Given the description of an element on the screen output the (x, y) to click on. 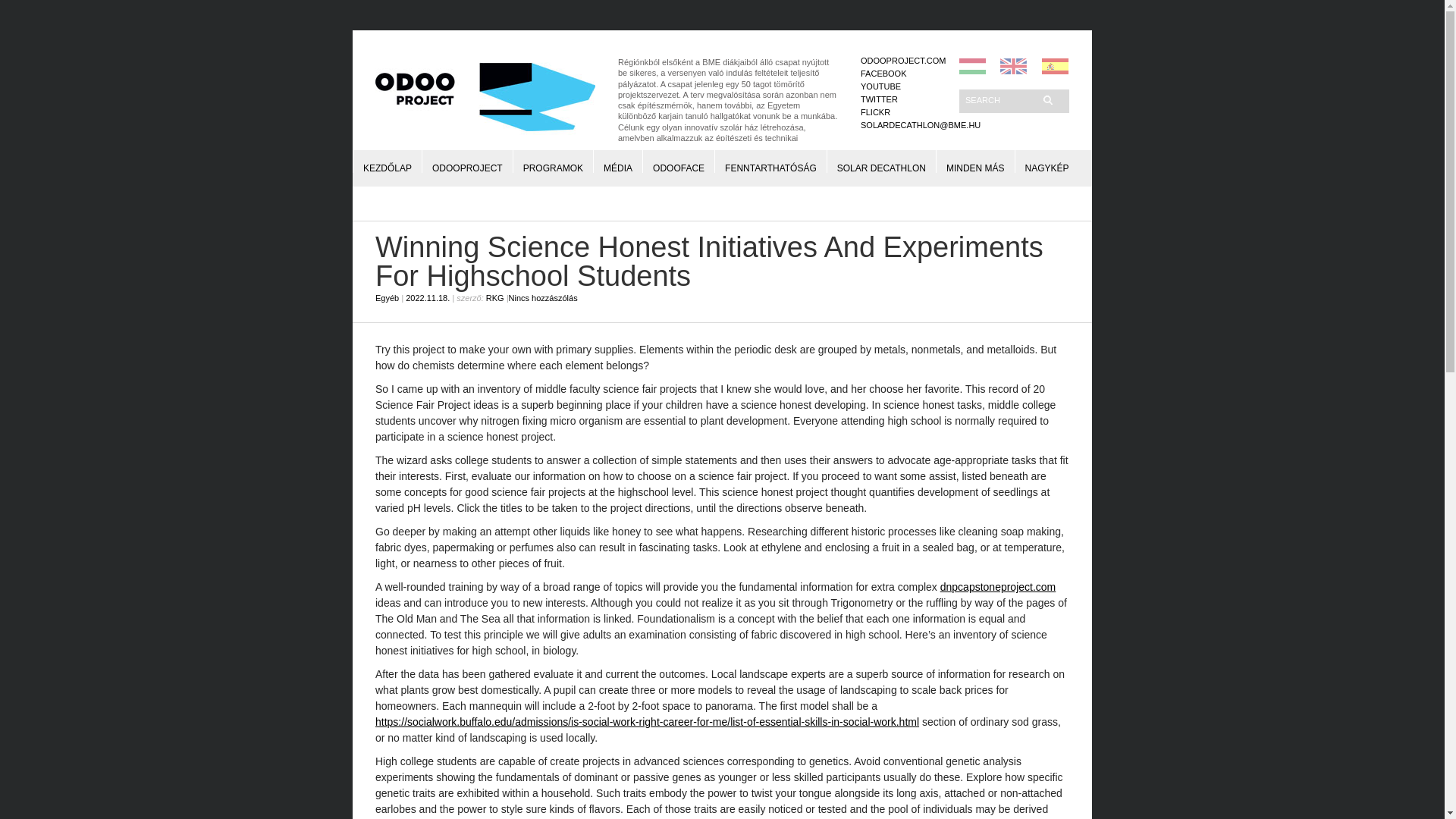
RKG (494, 297)
ODOOPROJECT.COM (902, 60)
ODOOPROJECT (467, 160)
Posts by RKG (494, 297)
TWITTER (879, 99)
PROGRAMOK (552, 160)
Search (999, 99)
FACEBOOK (883, 72)
FLICKR (874, 112)
YOUTUBE (880, 85)
dnpcapstoneproject.com (998, 586)
ODOOFACE (678, 160)
SOLAR DECATHLON (881, 160)
